Given the description of an element on the screen output the (x, y) to click on. 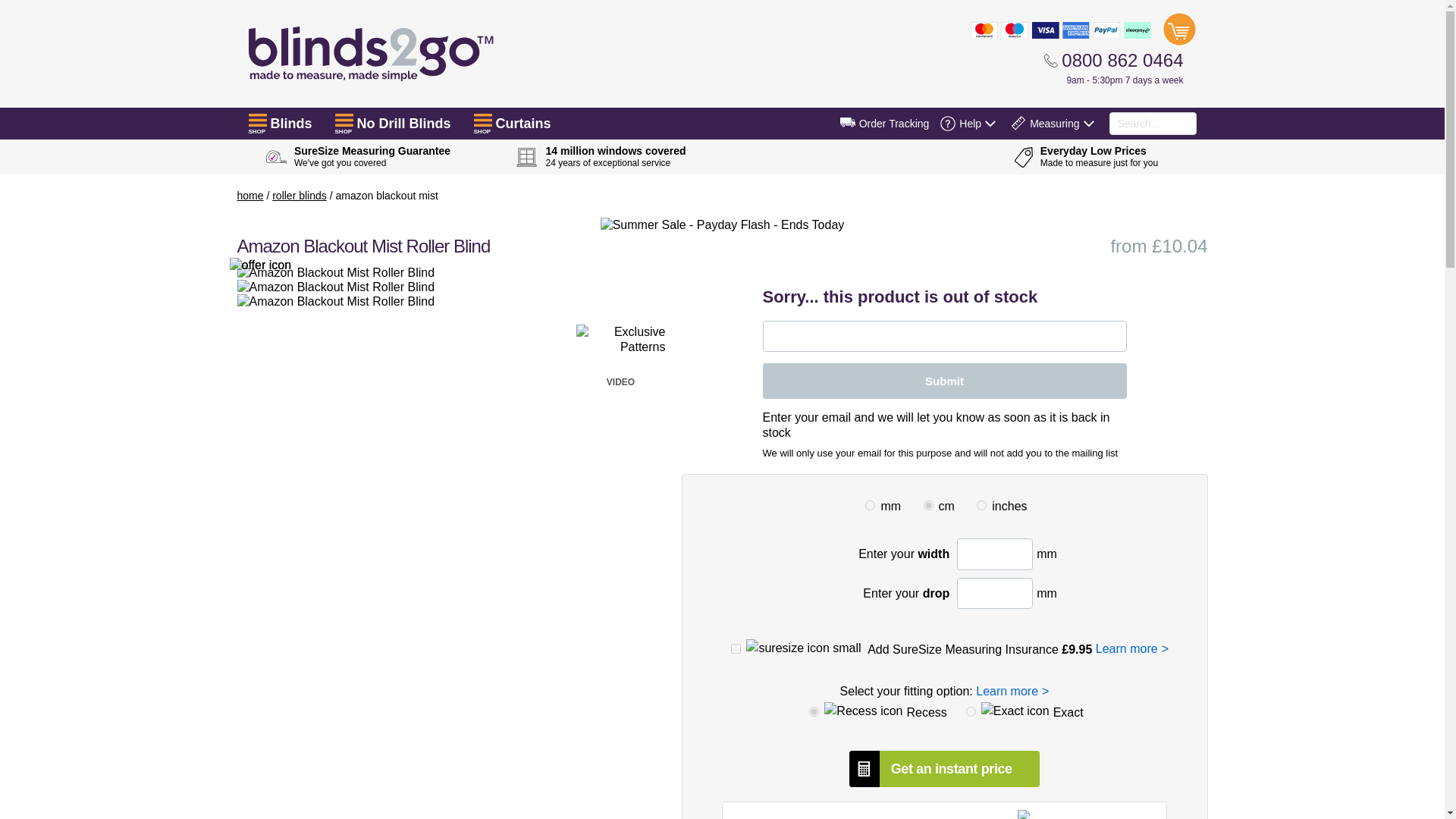
0800 862 0464 (1112, 60)
white down arrow icon (990, 122)
R (813, 711)
Submit (944, 380)
burger icon (483, 119)
burger icon (343, 119)
white down arrow icon (1088, 122)
3 (928, 505)
burger icon (257, 119)
E (970, 711)
